Given the description of an element on the screen output the (x, y) to click on. 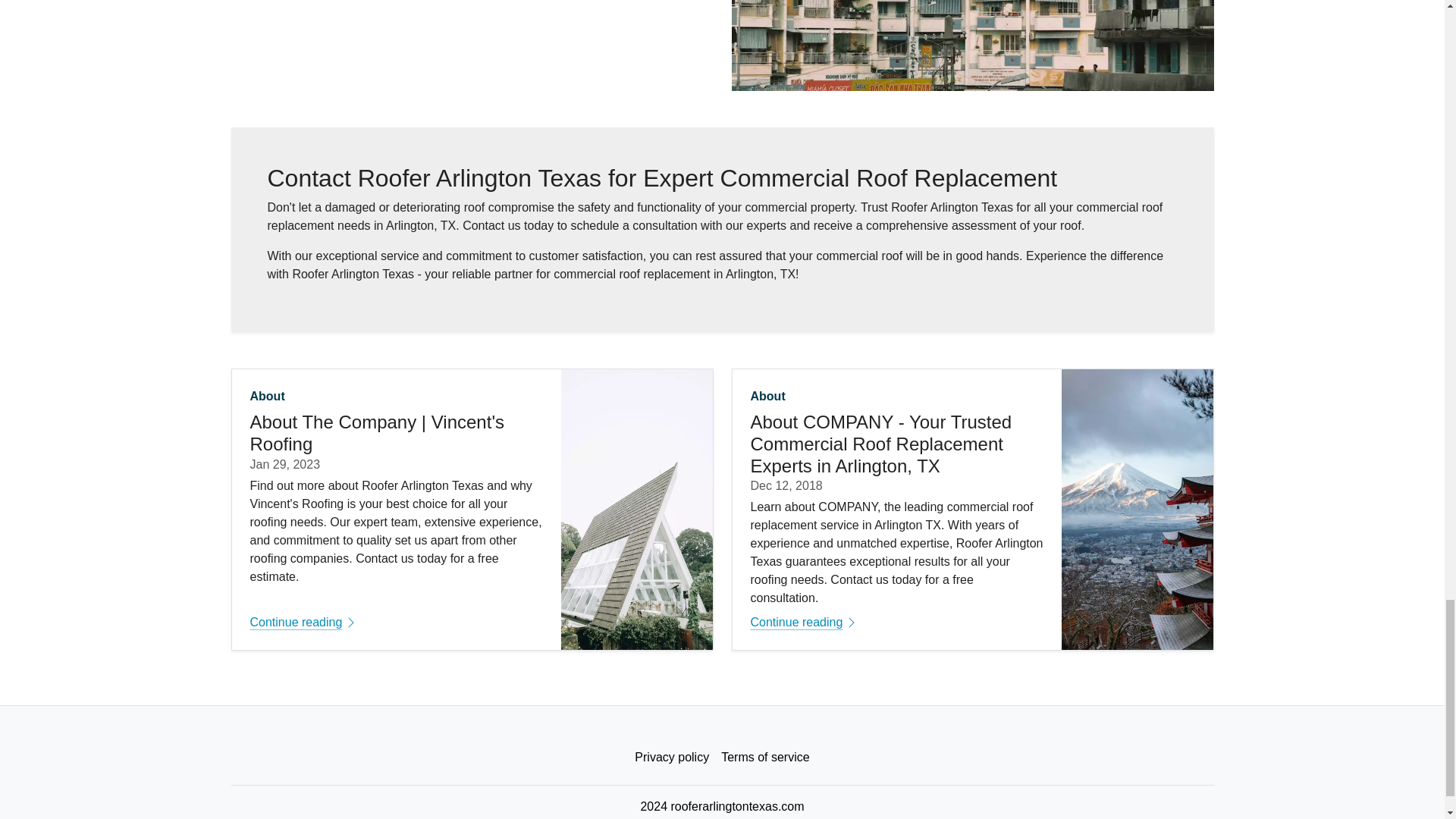
Terms of service (764, 757)
Continue reading (897, 622)
Continue reading (396, 622)
Privacy policy (671, 757)
